Given the description of an element on the screen output the (x, y) to click on. 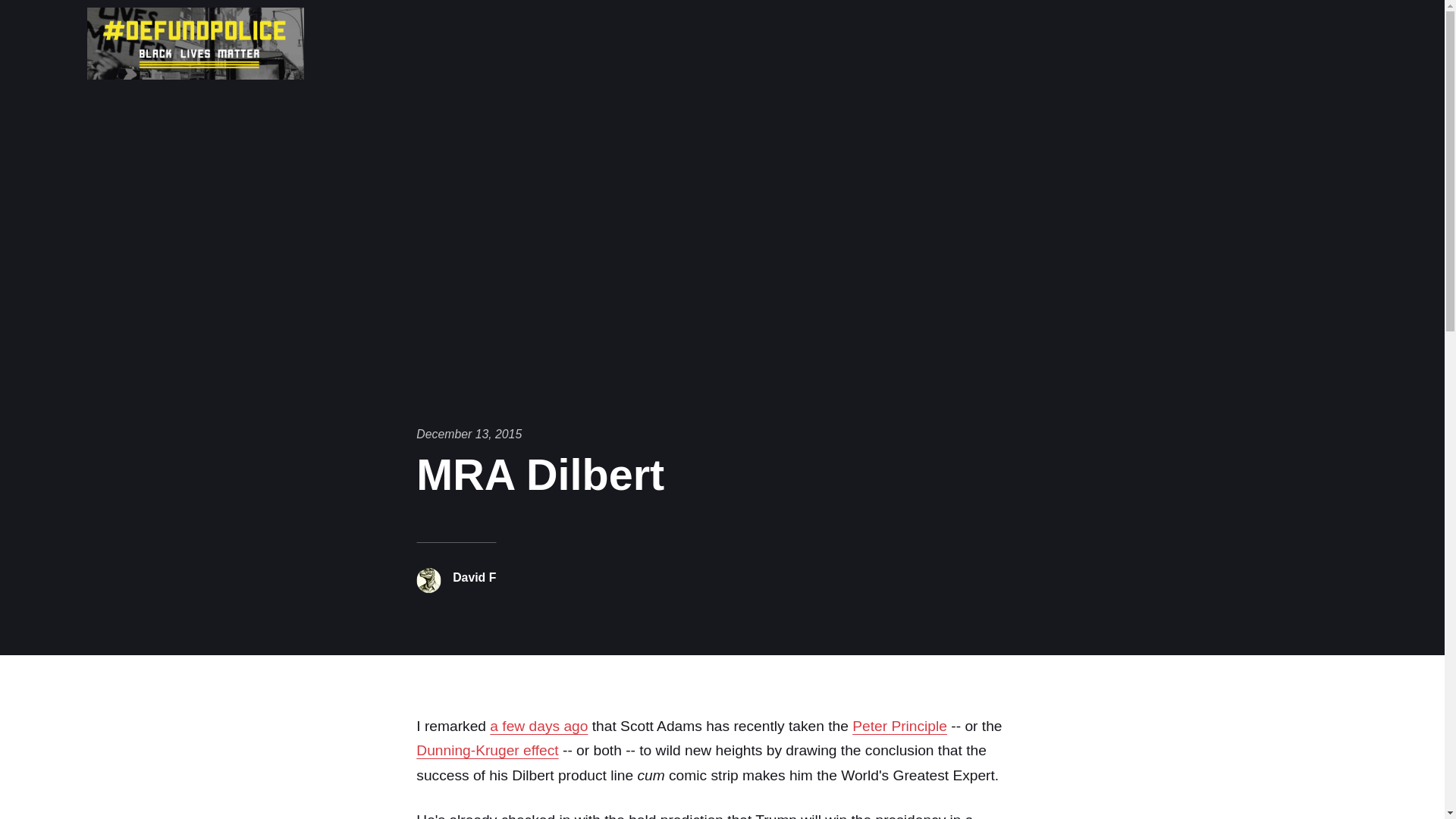
David F (474, 576)
a few days ago (538, 725)
Peter Principle (899, 725)
Dunning-Kruger effect (486, 750)
